Given the description of an element on the screen output the (x, y) to click on. 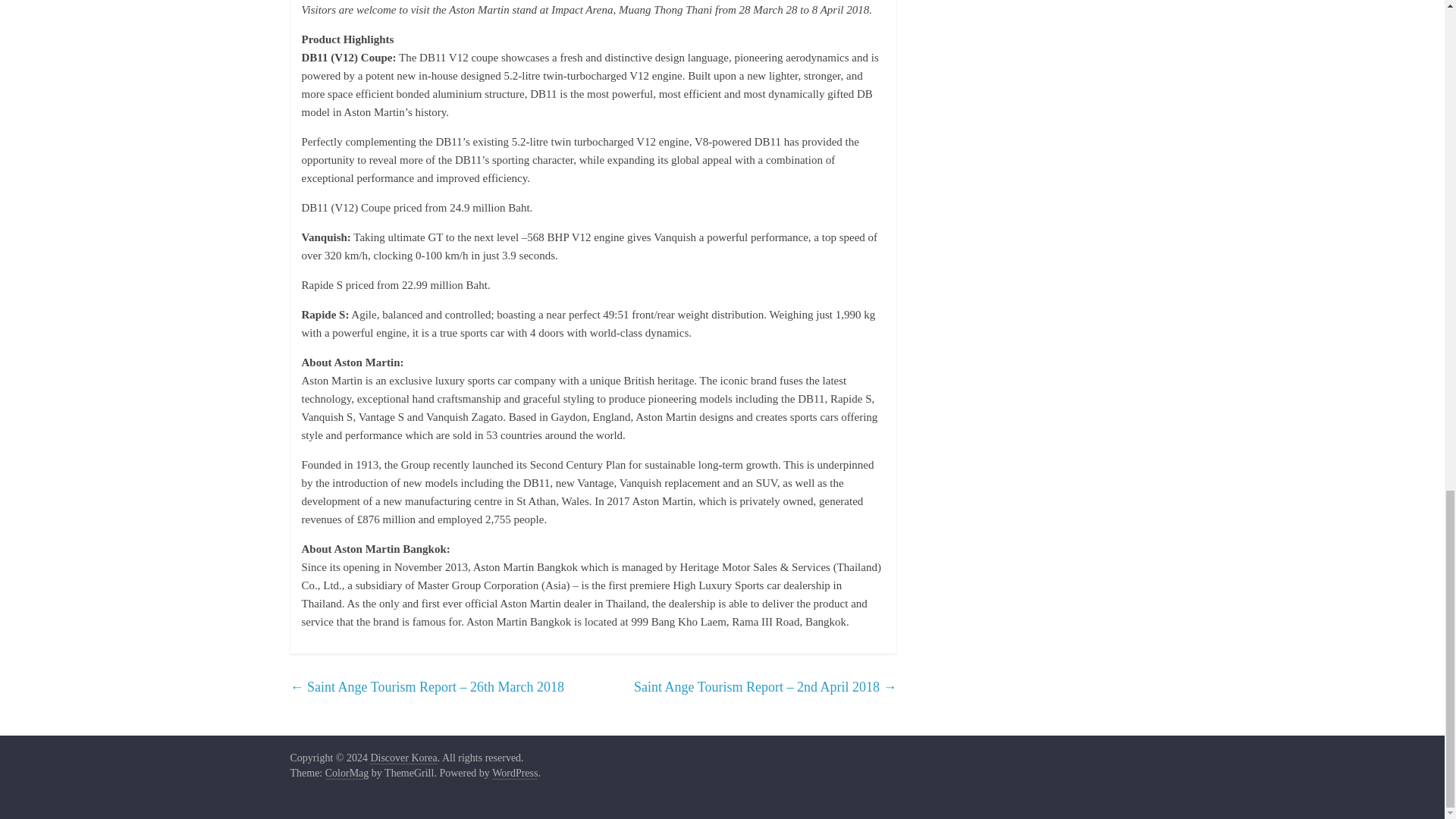
ColorMag (346, 773)
WordPress (514, 773)
WordPress (514, 773)
Discover Korea (402, 758)
ColorMag (346, 773)
Discover Korea (402, 758)
